Given the description of an element on the screen output the (x, y) to click on. 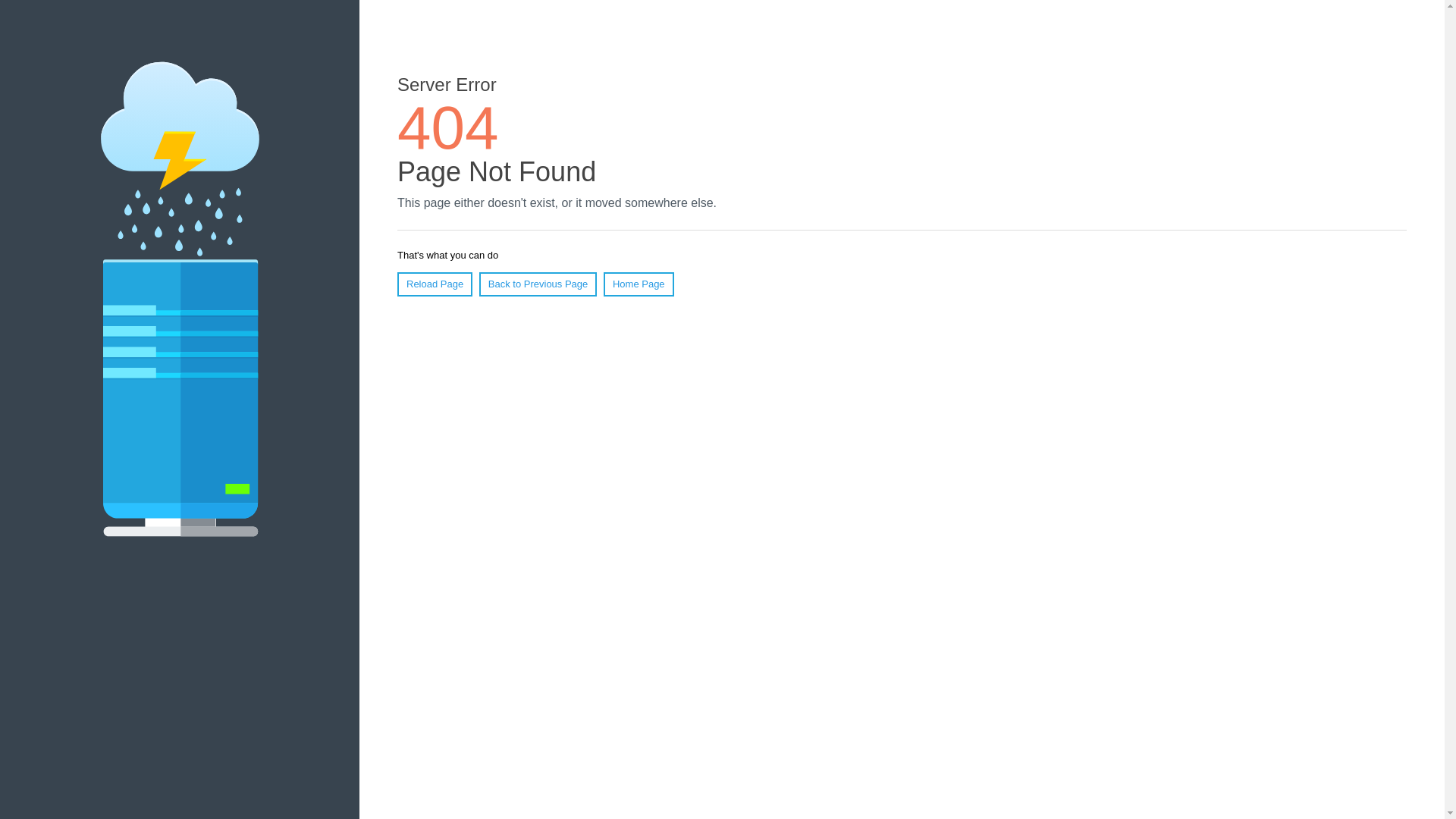
Reload Page Element type: text (434, 284)
Back to Previous Page Element type: text (538, 284)
Home Page Element type: text (638, 284)
